Given the description of an element on the screen output the (x, y) to click on. 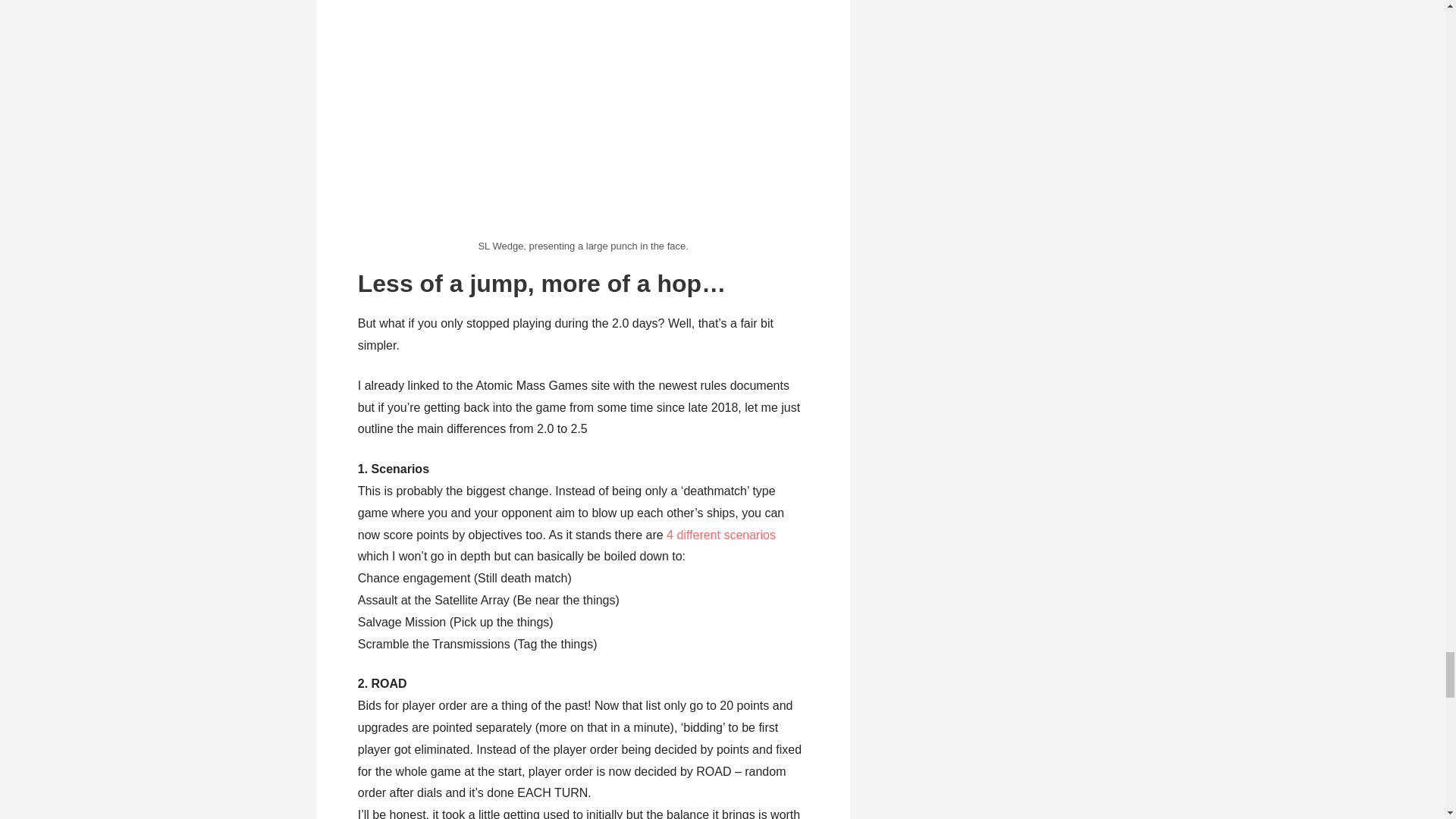
4 different scenarios (721, 534)
